Given the description of an element on the screen output the (x, y) to click on. 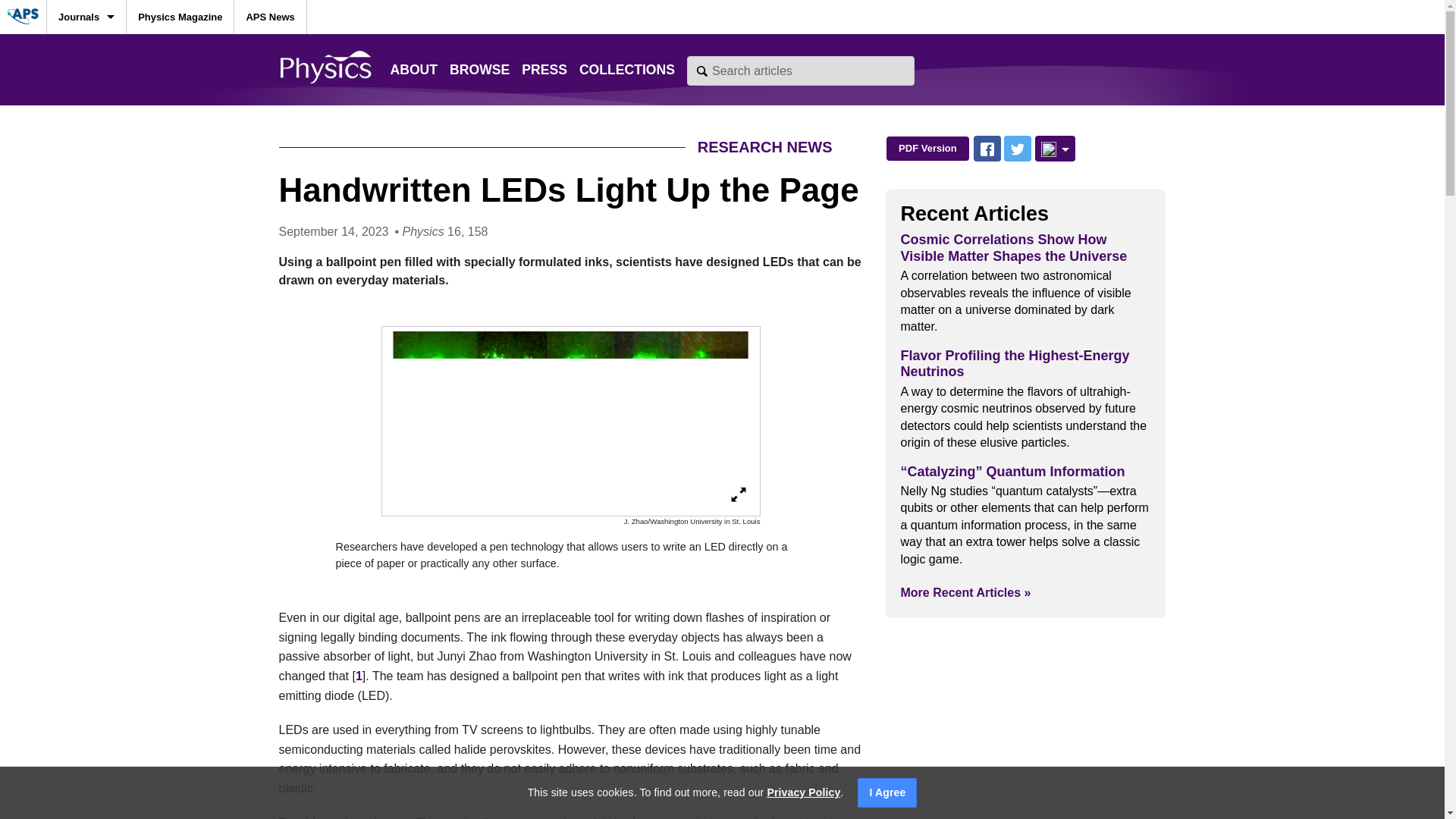
Physical Review X (85, 85)
Physical Review Letters (85, 51)
Physical Review (85, 597)
Physical Review Materials (85, 529)
PRX Quantum (85, 154)
Physical Review Applied (85, 461)
PRX Energy (85, 120)
Journals (85, 17)
Physical Review Accelerators and Beams (85, 427)
Reviews of Modern Physics (85, 188)
Physical Review A (85, 222)
Physical Review E (85, 358)
PRESS (544, 69)
Physical Review B (85, 256)
Physical Review D (85, 324)
